Given the description of an element on the screen output the (x, y) to click on. 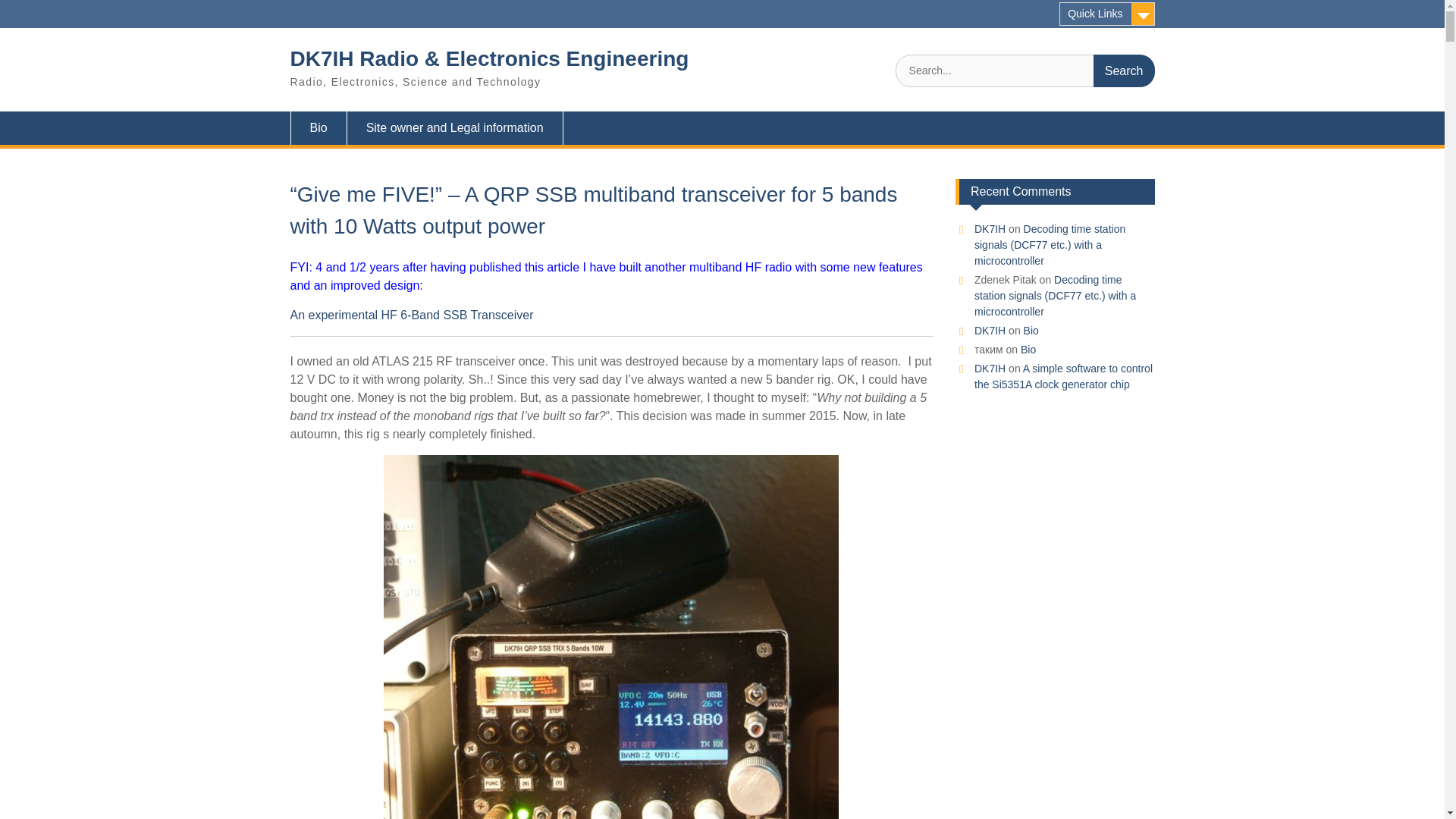
Search for: (1024, 70)
Quick Links (1106, 13)
Site owner and Legal information (455, 127)
Bio (317, 127)
An experimental HF 6-Band SSB Transceiver (410, 314)
Search (1123, 70)
Search (1123, 70)
Search (1123, 70)
